Given the description of an element on the screen output the (x, y) to click on. 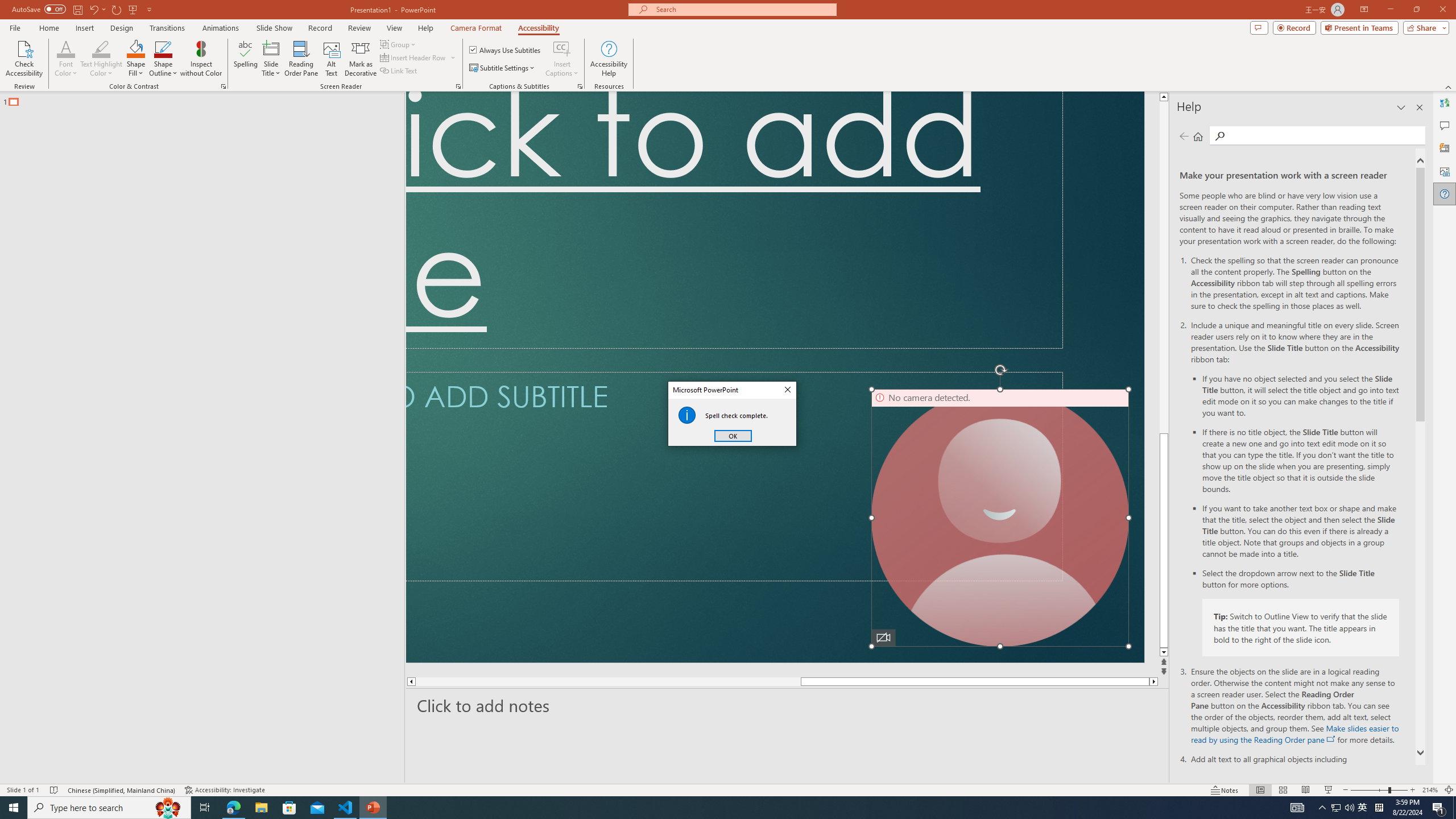
Action Center, 1 new notification (1439, 807)
Color & Contrast (223, 85)
Accessibility Help (608, 58)
Subtitle Settings (502, 67)
